Given the description of an element on the screen output the (x, y) to click on. 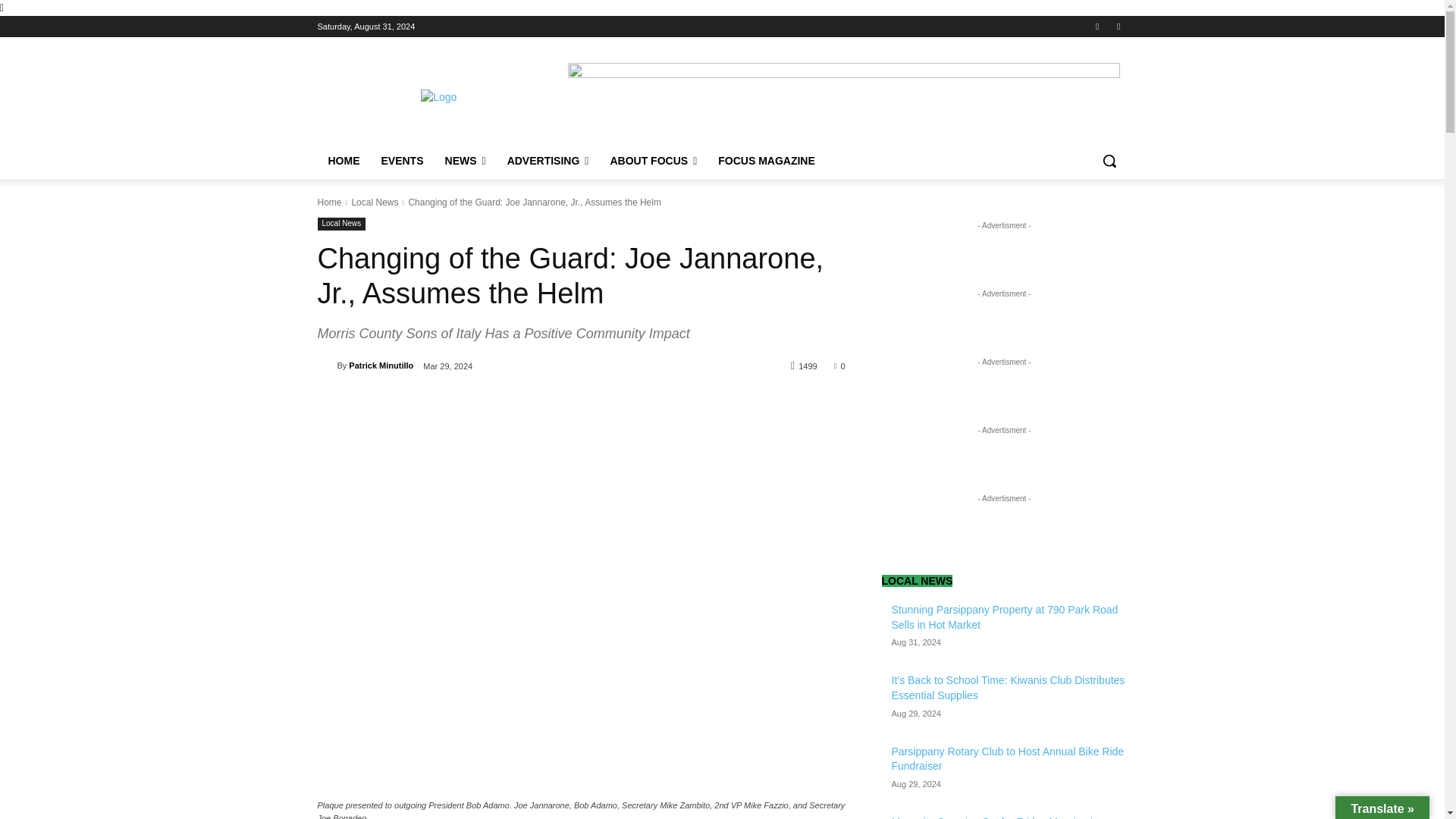
EVENTS (401, 160)
Twitter (1117, 27)
Facebook (1097, 27)
NEWS (464, 160)
HOME (343, 160)
